Given the description of an element on the screen output the (x, y) to click on. 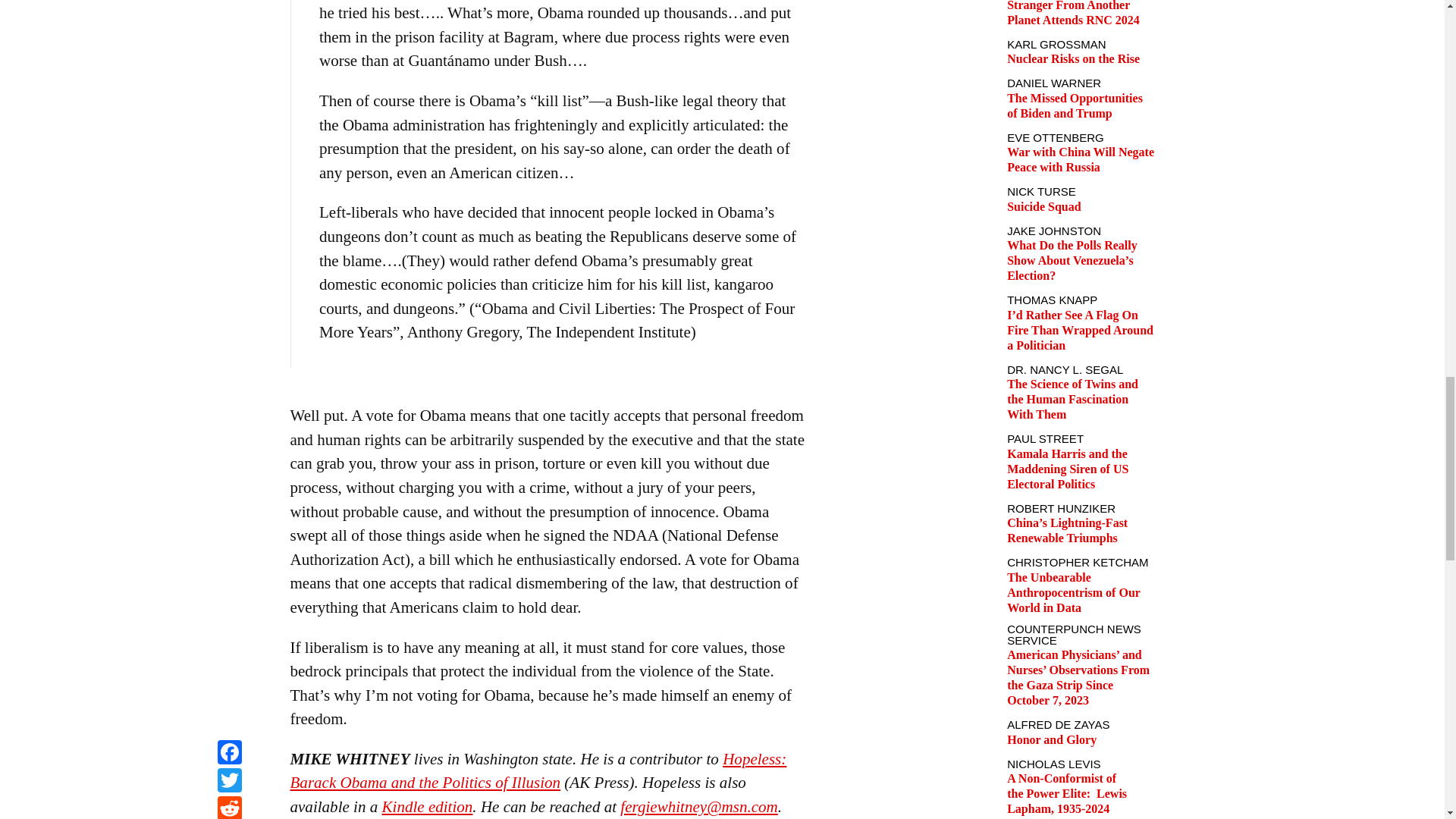
Kindle edition (427, 806)
Hopeless: Barack Obama and the Politics of Illusion (537, 771)
